Given the description of an element on the screen output the (x, y) to click on. 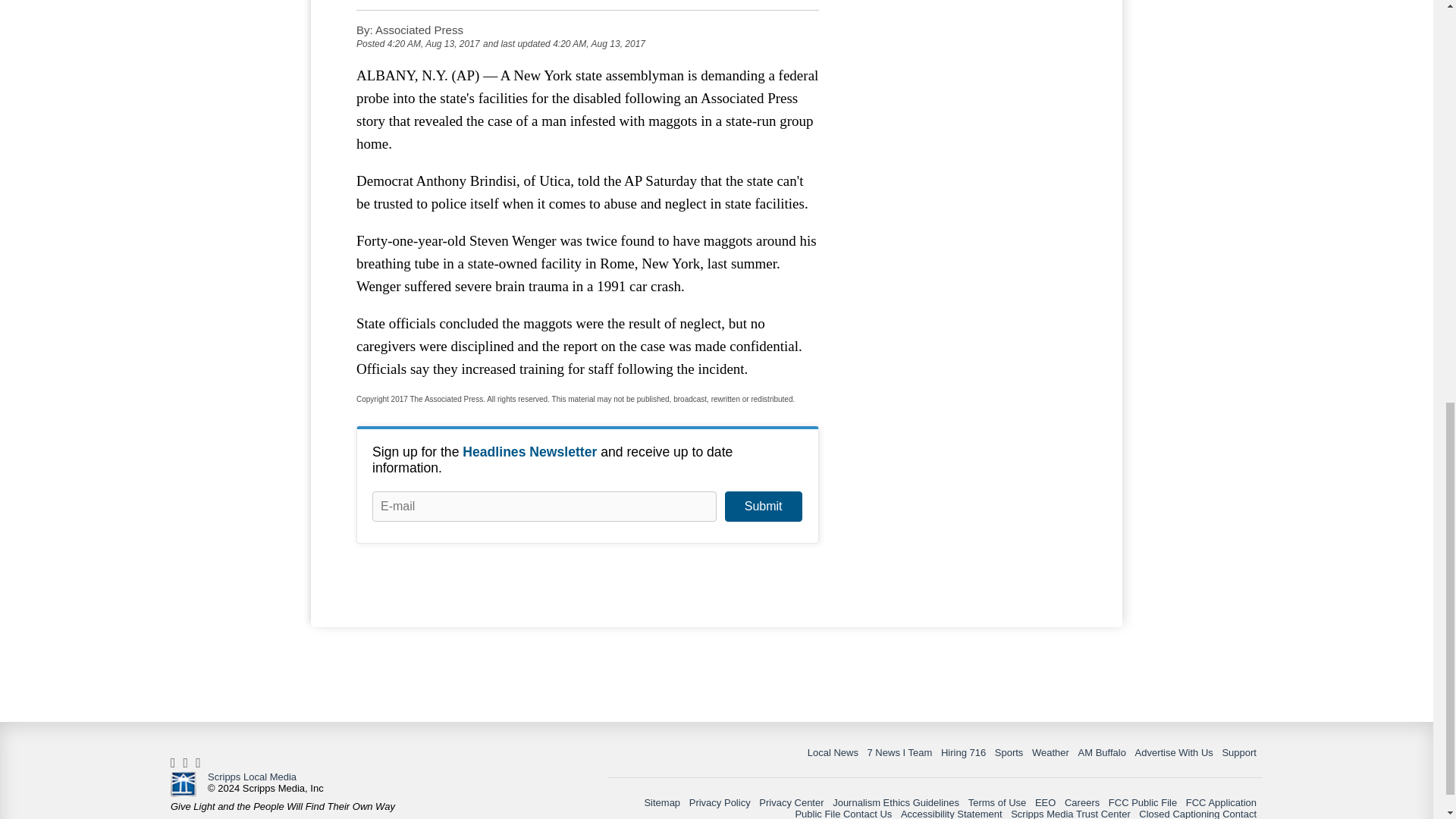
Submit (763, 506)
